Given the description of an element on the screen output the (x, y) to click on. 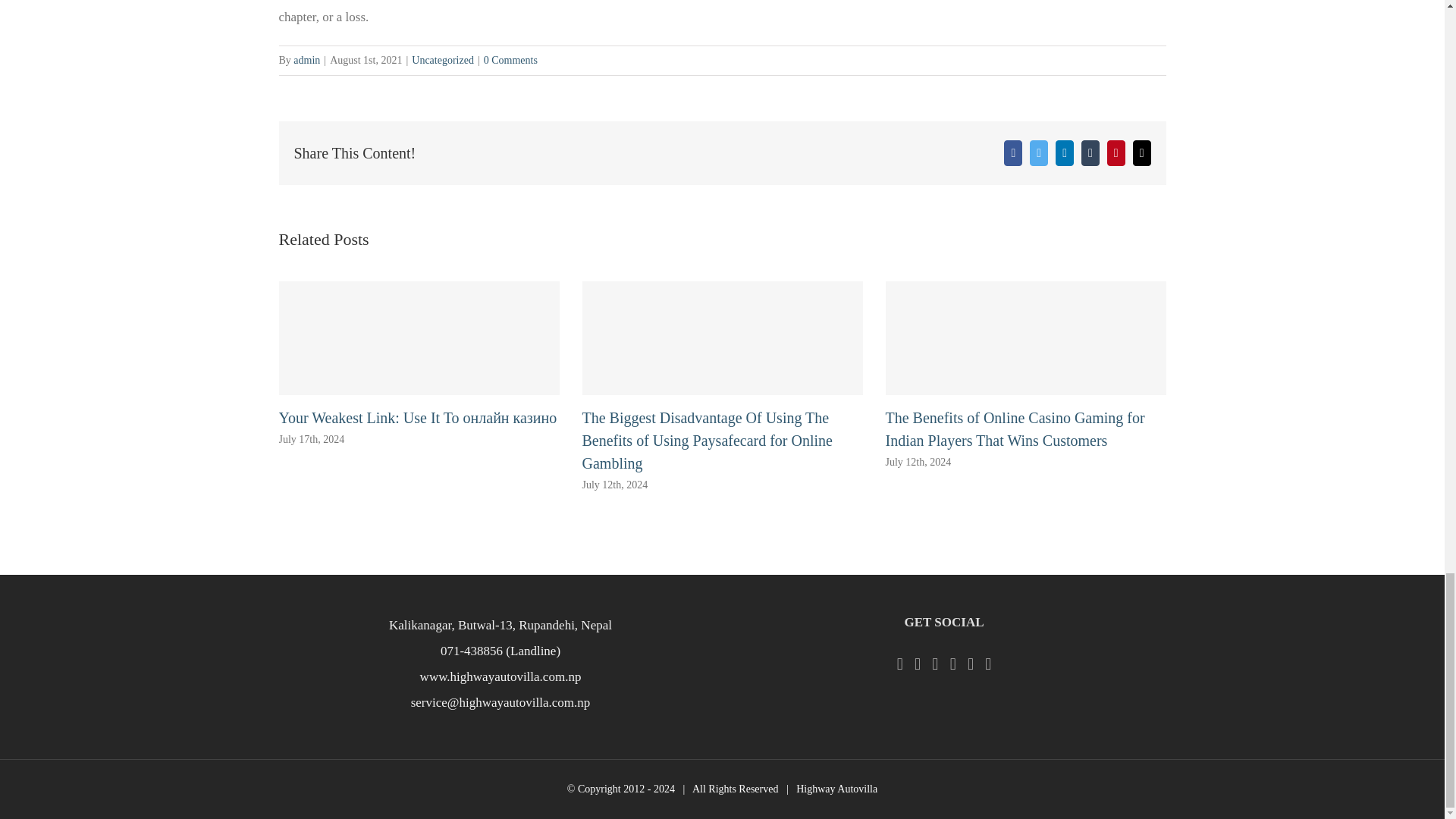
Uncategorized (443, 60)
0 Comments (510, 60)
Email (1141, 153)
Pinterest (1115, 153)
LinkedIn (1064, 153)
Tumblr (1090, 153)
Facebook (1013, 153)
Twitter (1038, 153)
Posts by admin (307, 60)
admin (307, 60)
